Given the description of an element on the screen output the (x, y) to click on. 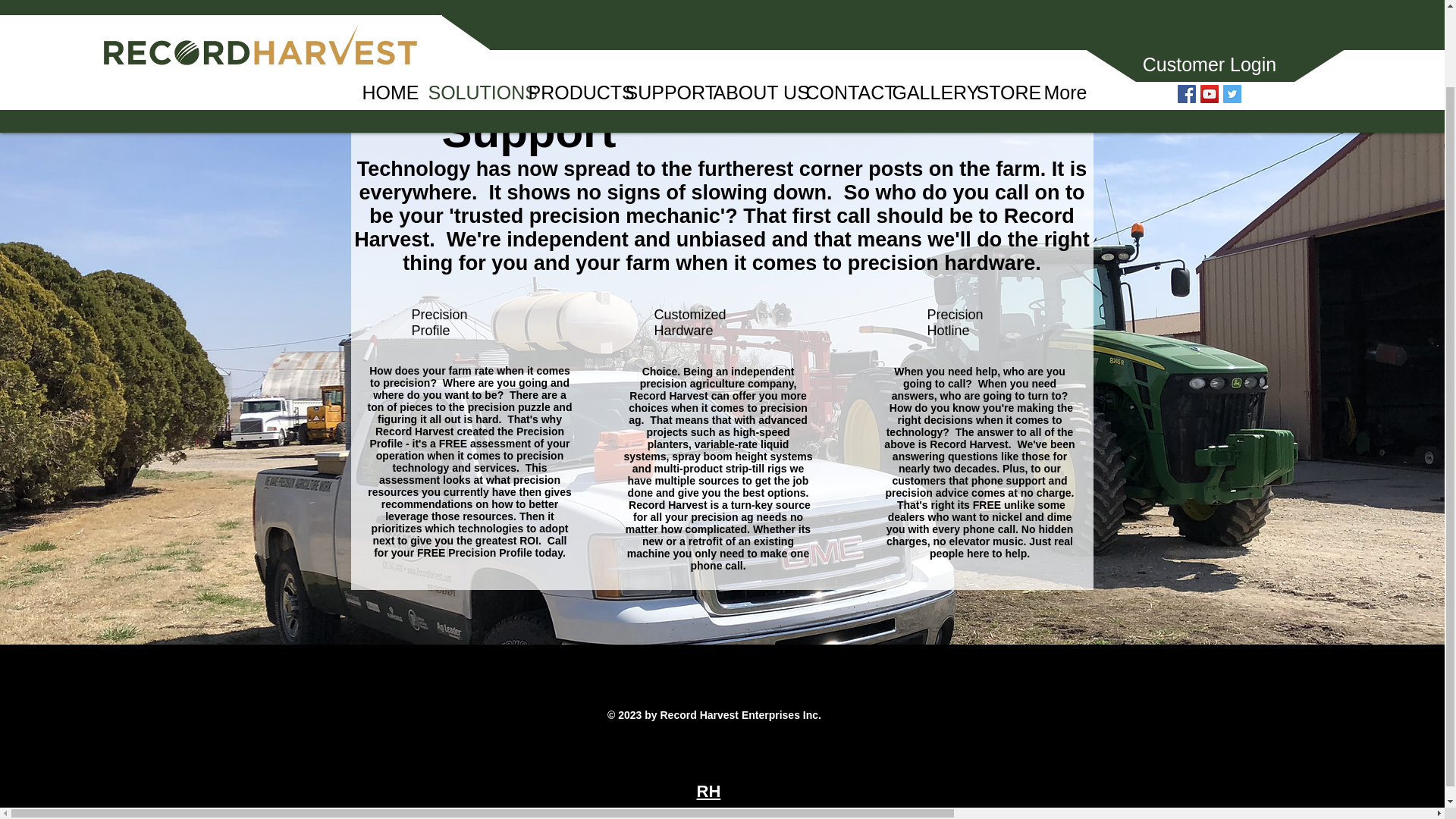
RH (707, 791)
SUPPORT (657, 9)
GALLERY (922, 9)
CONTACT (837, 9)
PRODUCTS (565, 9)
SOLUTIONS (466, 9)
STORE (997, 9)
HOME (383, 9)
ABOUT US (747, 9)
